Given the description of an element on the screen output the (x, y) to click on. 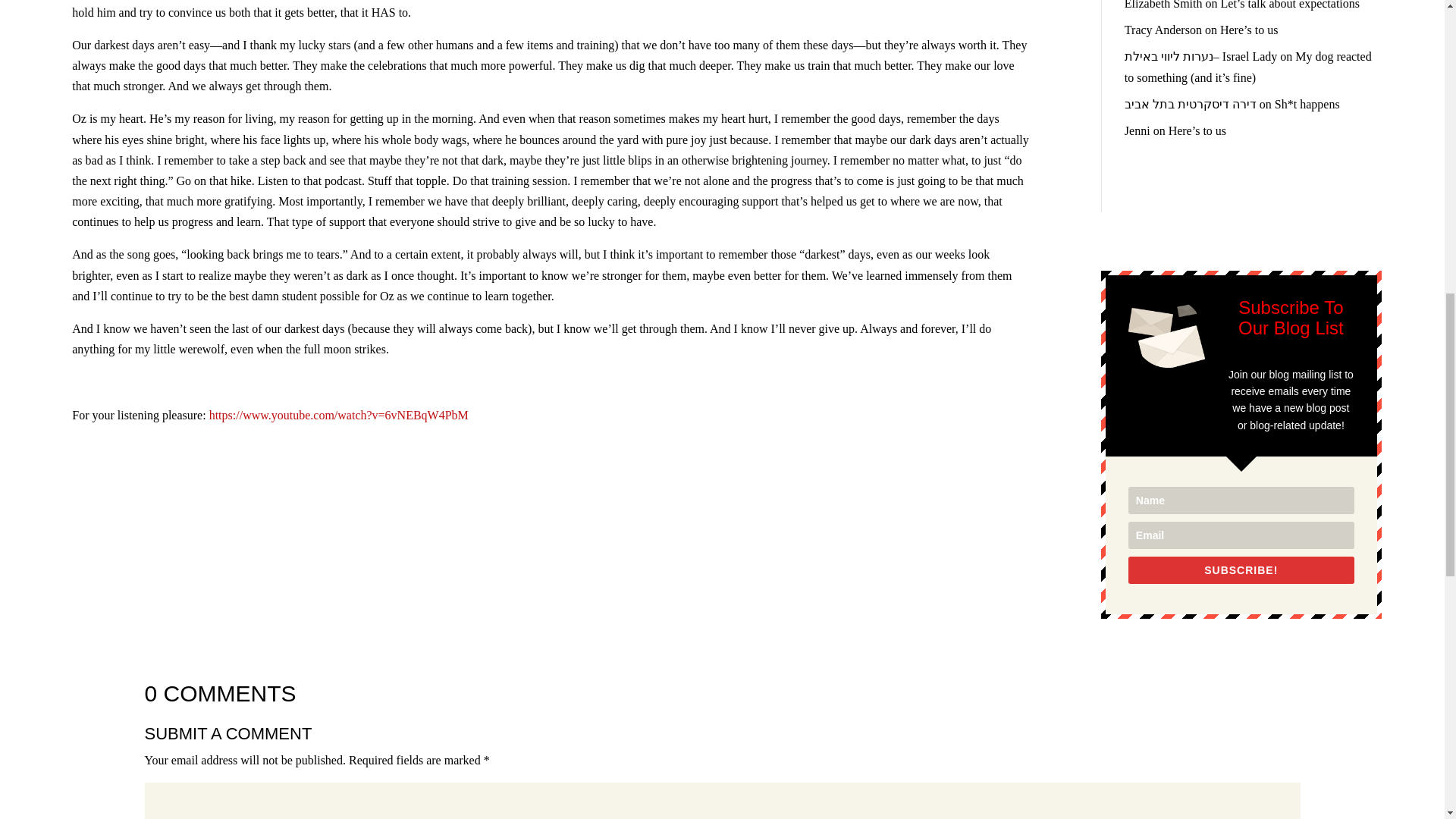
Tracy Anderson (1163, 29)
